Given the description of an element on the screen output the (x, y) to click on. 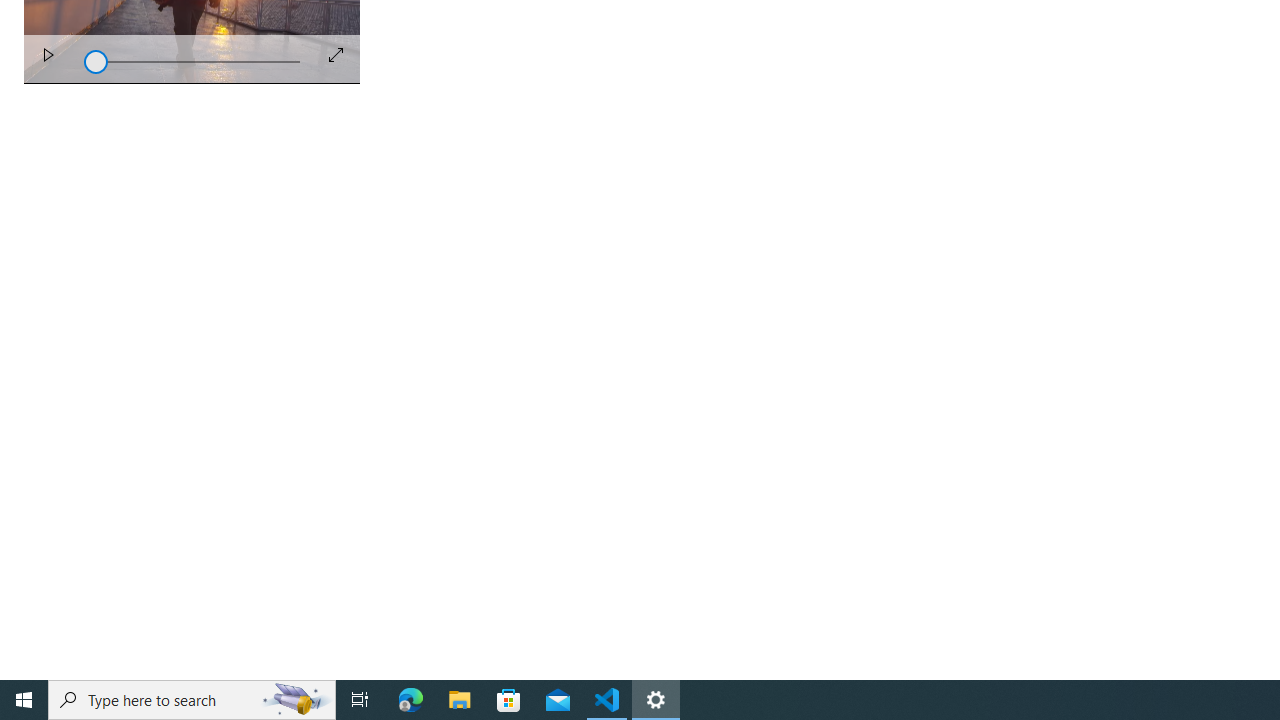
Play (47, 58)
Full Screen (335, 54)
Seek (191, 59)
